Given the description of an element on the screen output the (x, y) to click on. 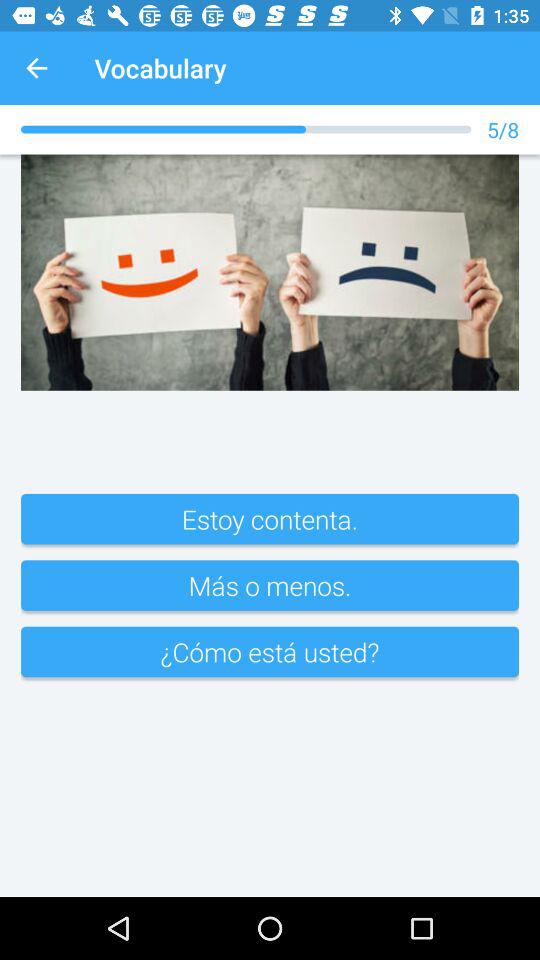
select the app to the left of the vocabulary item (36, 68)
